Given the description of an element on the screen output the (x, y) to click on. 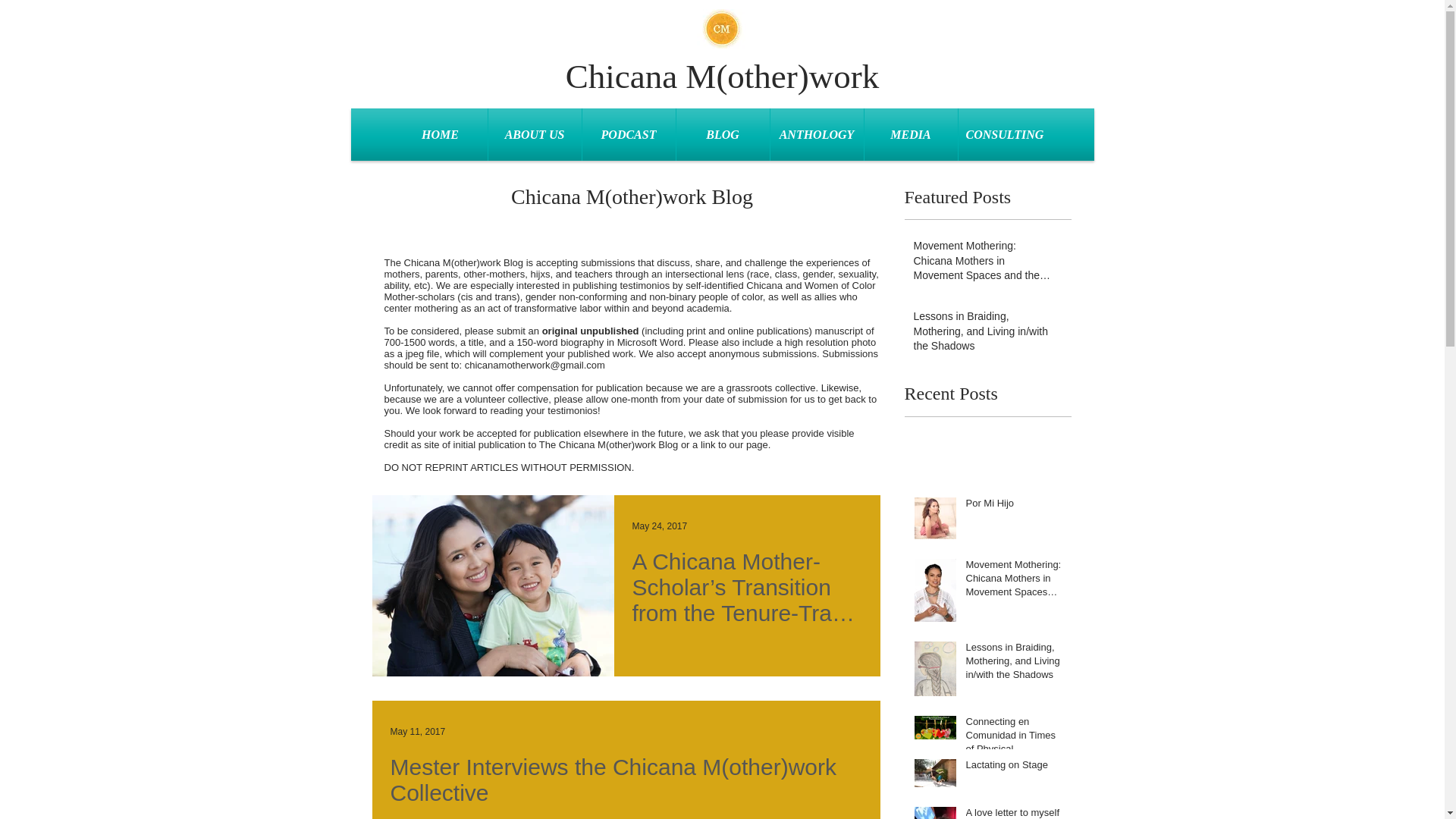
HOME (439, 133)
ANTHOLOGY (816, 133)
Edited Image 2016-02-26 00-49-16 (720, 28)
BLOG (723, 133)
ABOUT US (533, 133)
CONSULTING (1004, 133)
Por Mi Hijo (1014, 506)
MEDIA (911, 133)
Connecting en Comunidad in Times of Physical Distancing (1014, 738)
May 11, 2017 (417, 731)
A love letter to myself in this final stretch (1014, 812)
Lactating on Stage (1014, 768)
May 24, 2017 (659, 525)
